Given the description of an element on the screen output the (x, y) to click on. 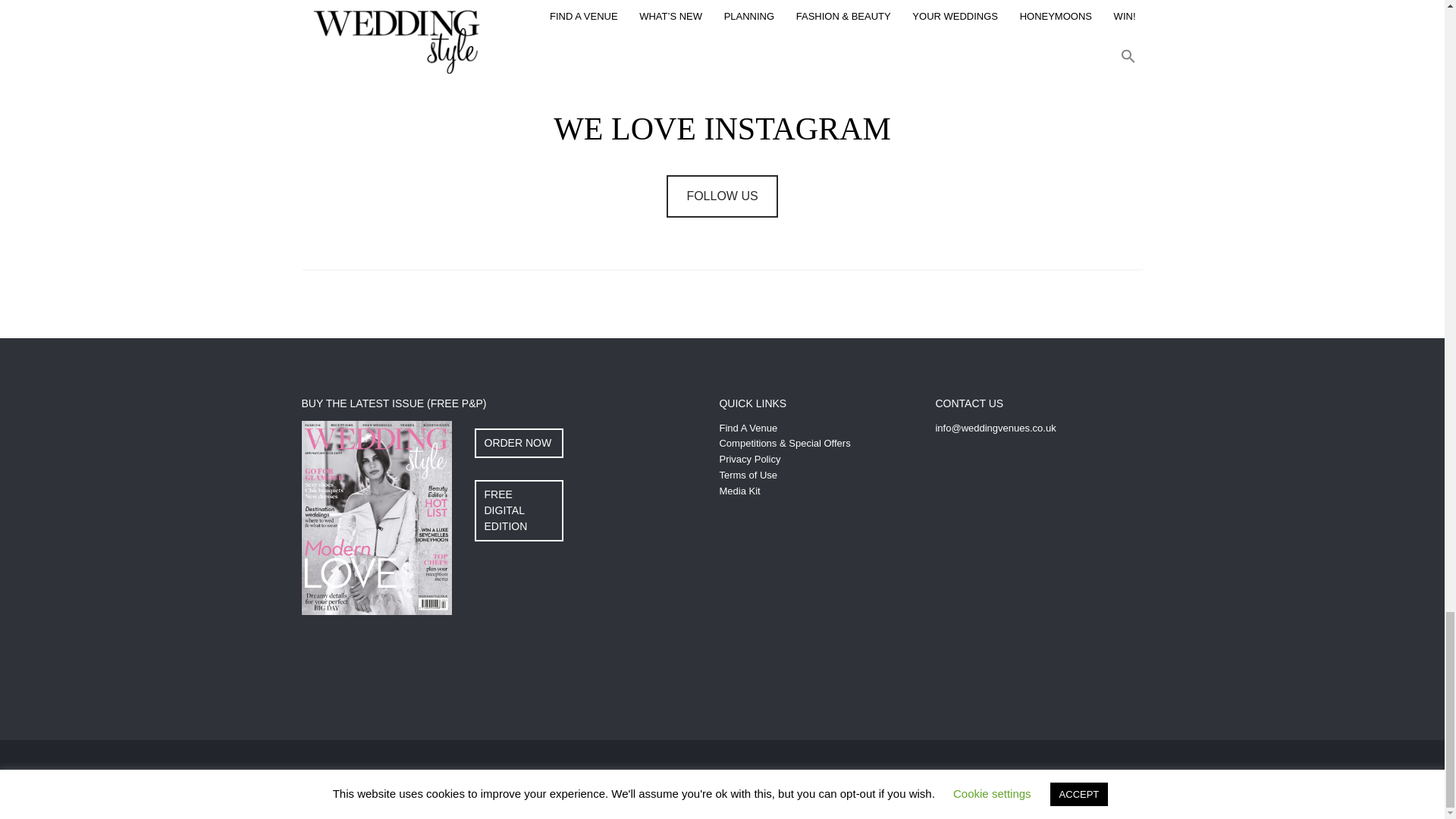
FOLLOW US (721, 196)
Media Kit (739, 490)
FREE DIGITAL EDITION (518, 510)
ORDER NOW (518, 442)
MORE PLANNING (722, 53)
Privacy Policy (749, 459)
Find A Venue (748, 428)
Terms of Use (748, 474)
